Given the description of an element on the screen output the (x, y) to click on. 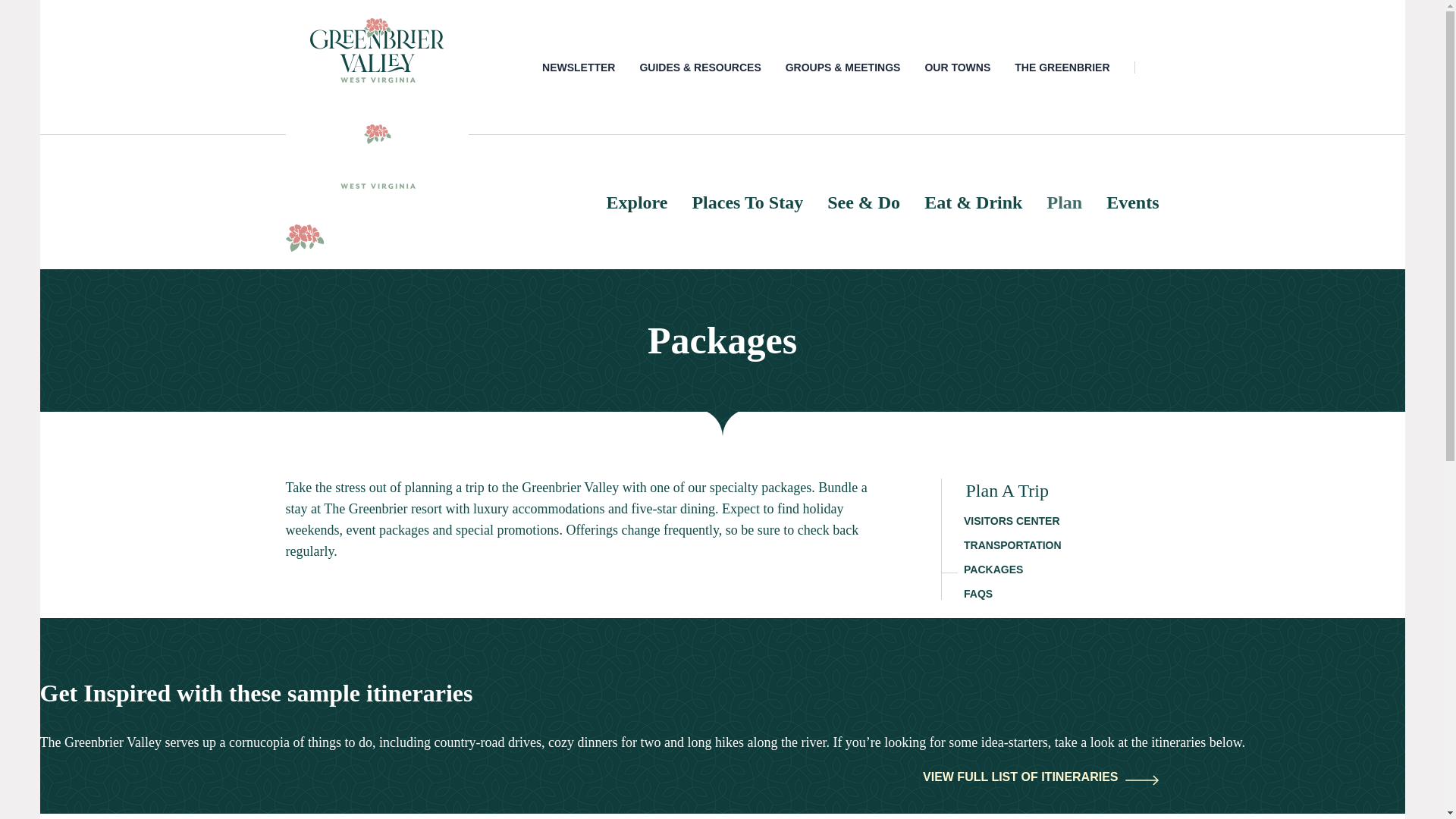
NEWSLETTER (577, 67)
Events (1132, 202)
Explore (637, 202)
Plan (1063, 202)
Places To Stay (747, 202)
OUR TOWNS (957, 67)
THE GREENBRIER (1061, 67)
